Given the description of an element on the screen output the (x, y) to click on. 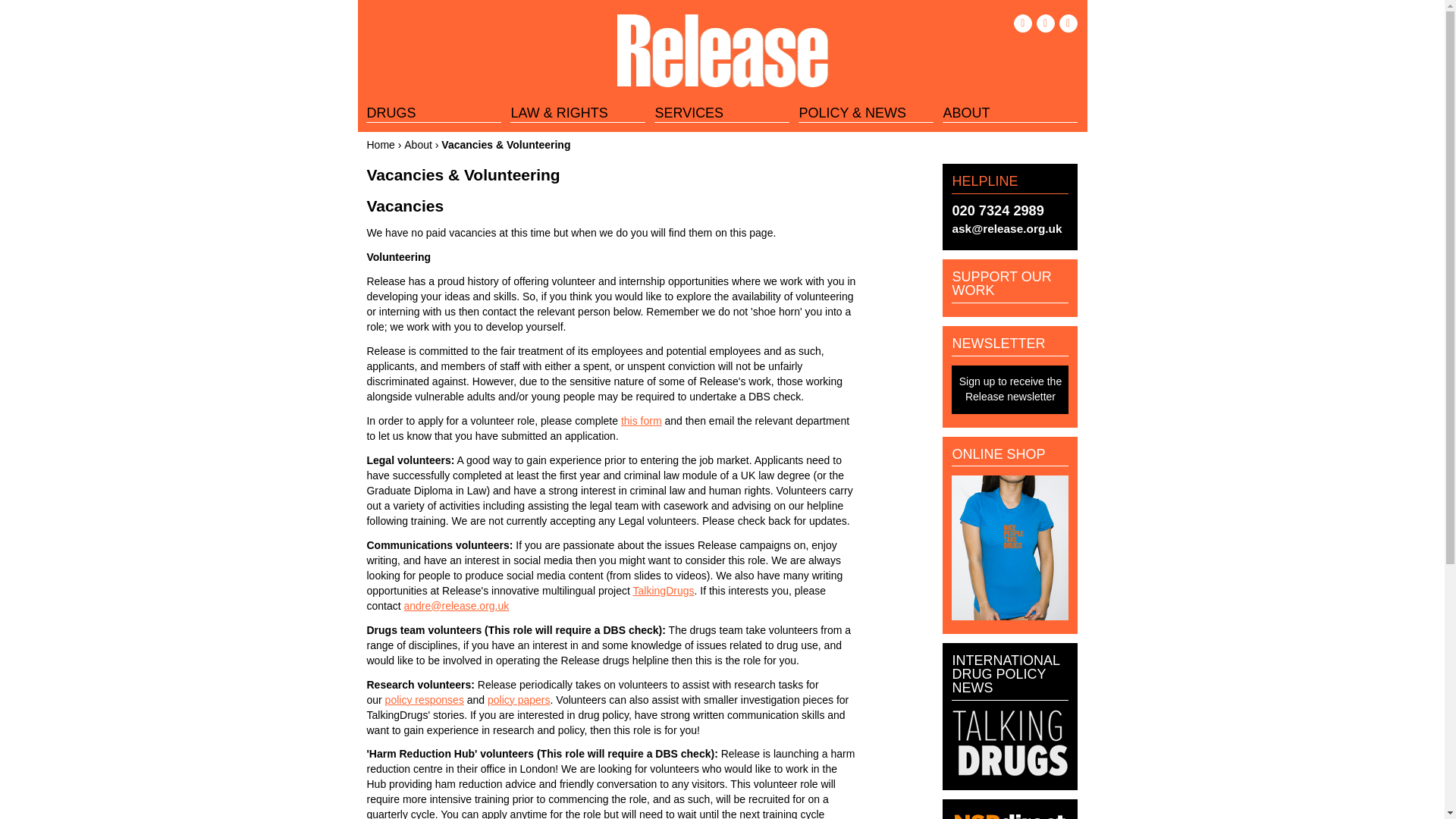
Follow Release on Facebook (1022, 23)
policy responses (424, 699)
DRUGS (433, 112)
Follow Release on Twitter (1045, 23)
The Release Shop (1010, 616)
this form (641, 420)
Home (721, 53)
ABOUT (1009, 112)
TalkingDrugs (663, 590)
SERVICES (721, 112)
